Given the description of an element on the screen output the (x, y) to click on. 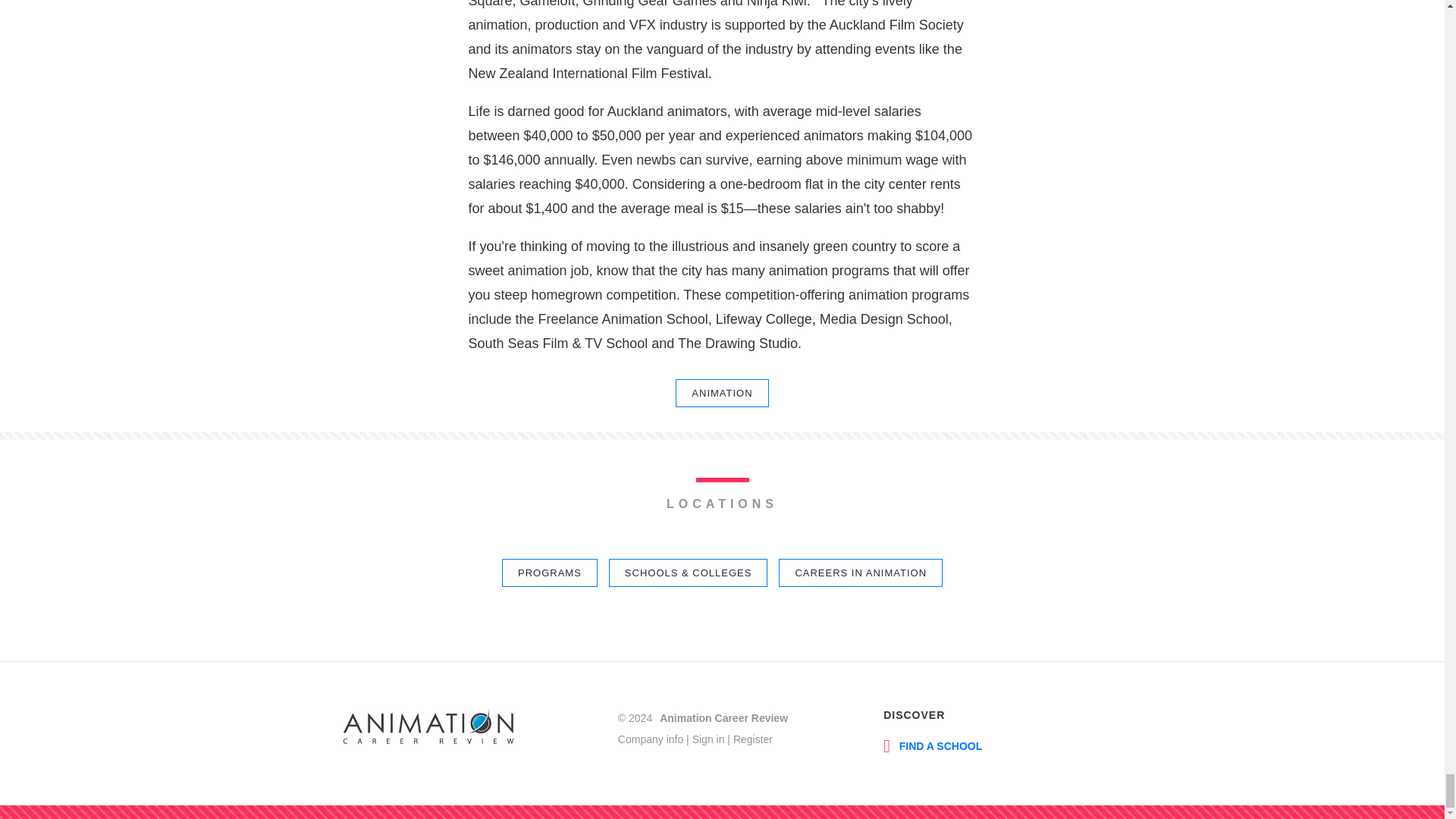
 FIND A SCHOOL (932, 743)
CAREERS IN ANIMATION (860, 571)
Home (427, 728)
Register (753, 738)
PROGRAMS (549, 571)
Company info (649, 738)
Sign in (709, 738)
ANIMATION (721, 393)
